Given the description of an element on the screen output the (x, y) to click on. 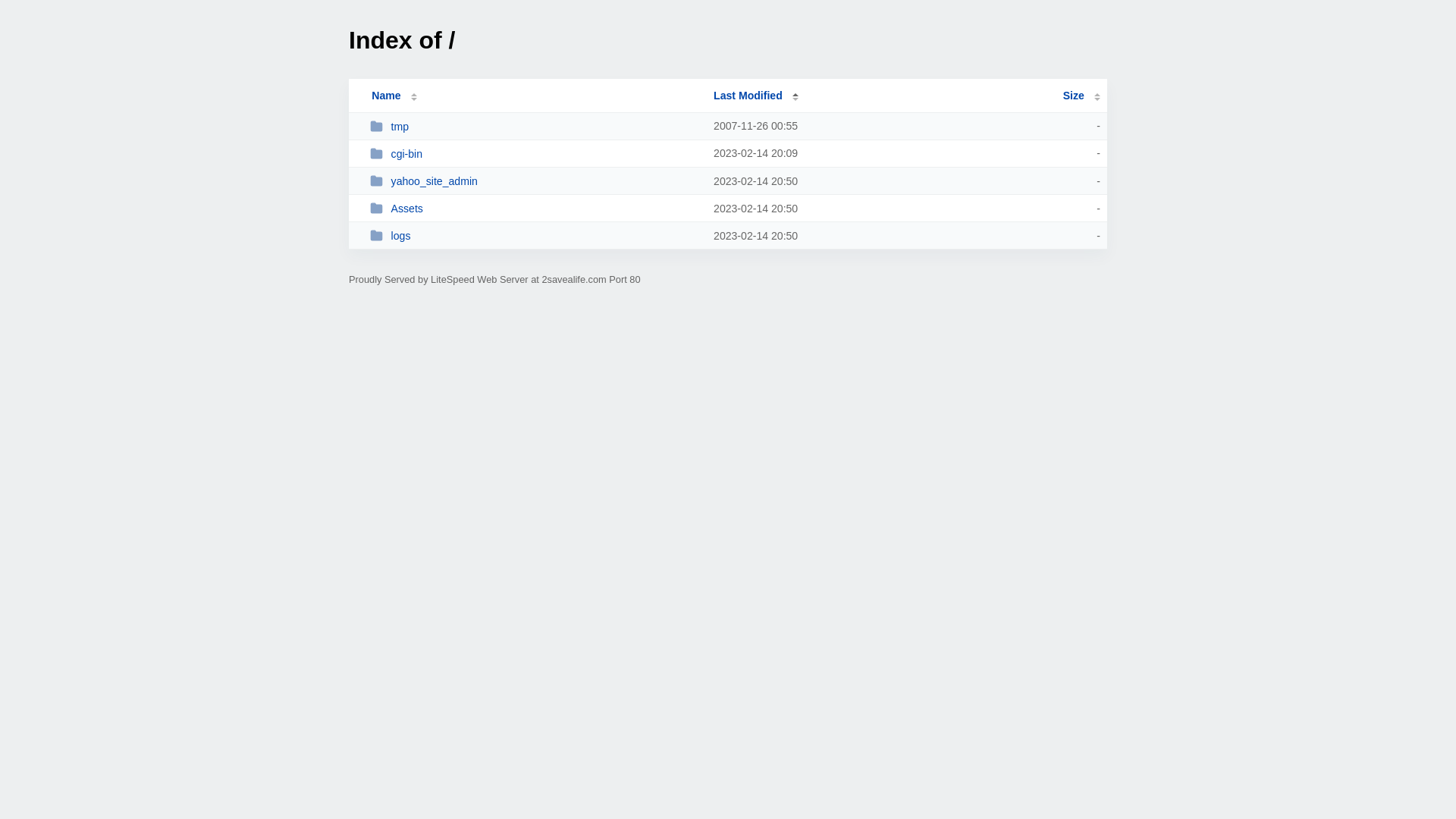
Name Element type: text (385, 95)
Size Element type: text (1081, 95)
cgi-bin Element type: text (534, 153)
Last Modified Element type: text (755, 95)
Assets Element type: text (534, 207)
tmp Element type: text (534, 125)
logs Element type: text (534, 235)
yahoo_site_admin Element type: text (534, 180)
